Given the description of an element on the screen output the (x, y) to click on. 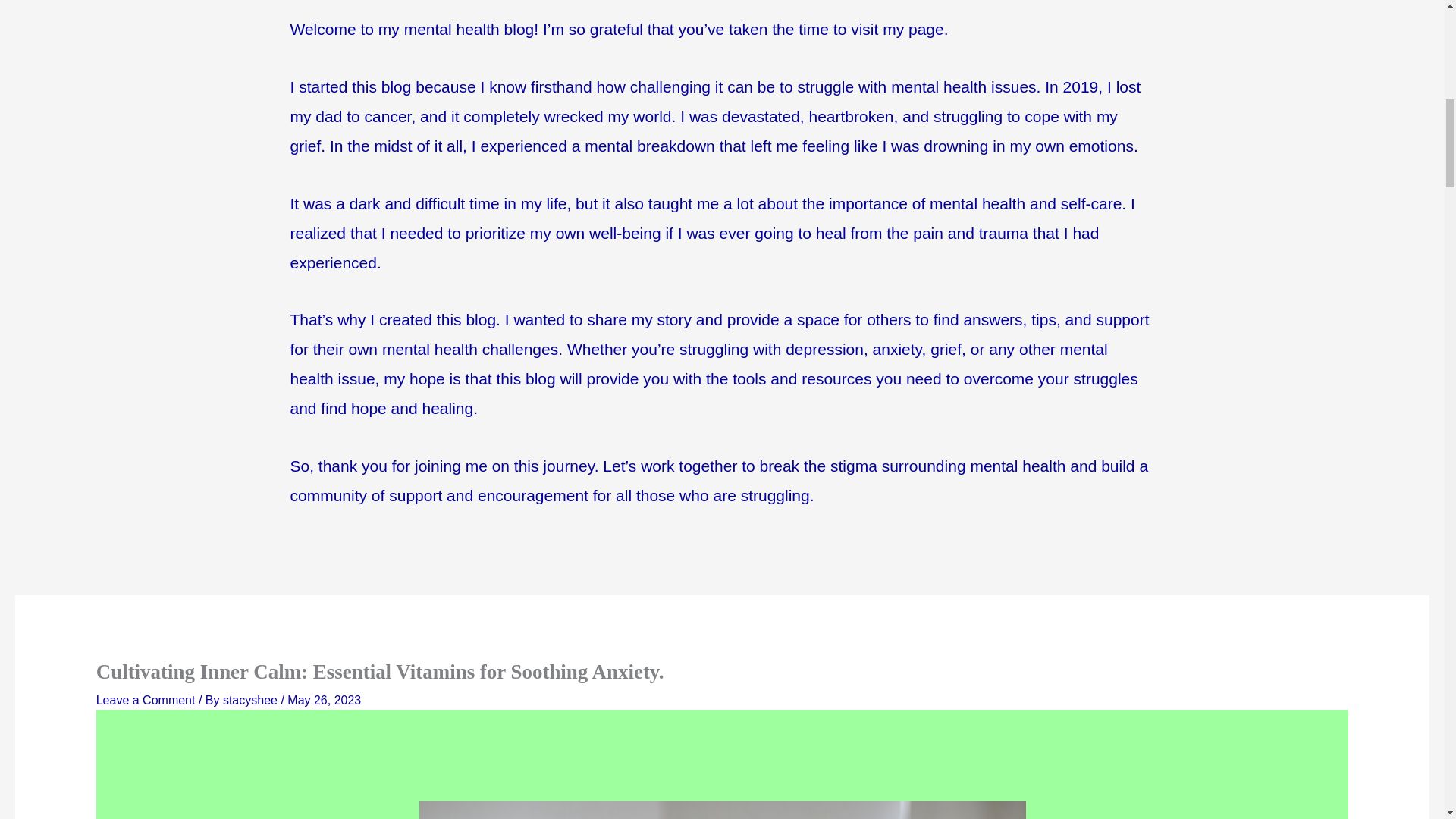
View all posts by stacyshee (251, 699)
Leave a Comment (145, 699)
stacyshee (251, 699)
